Given the description of an element on the screen output the (x, y) to click on. 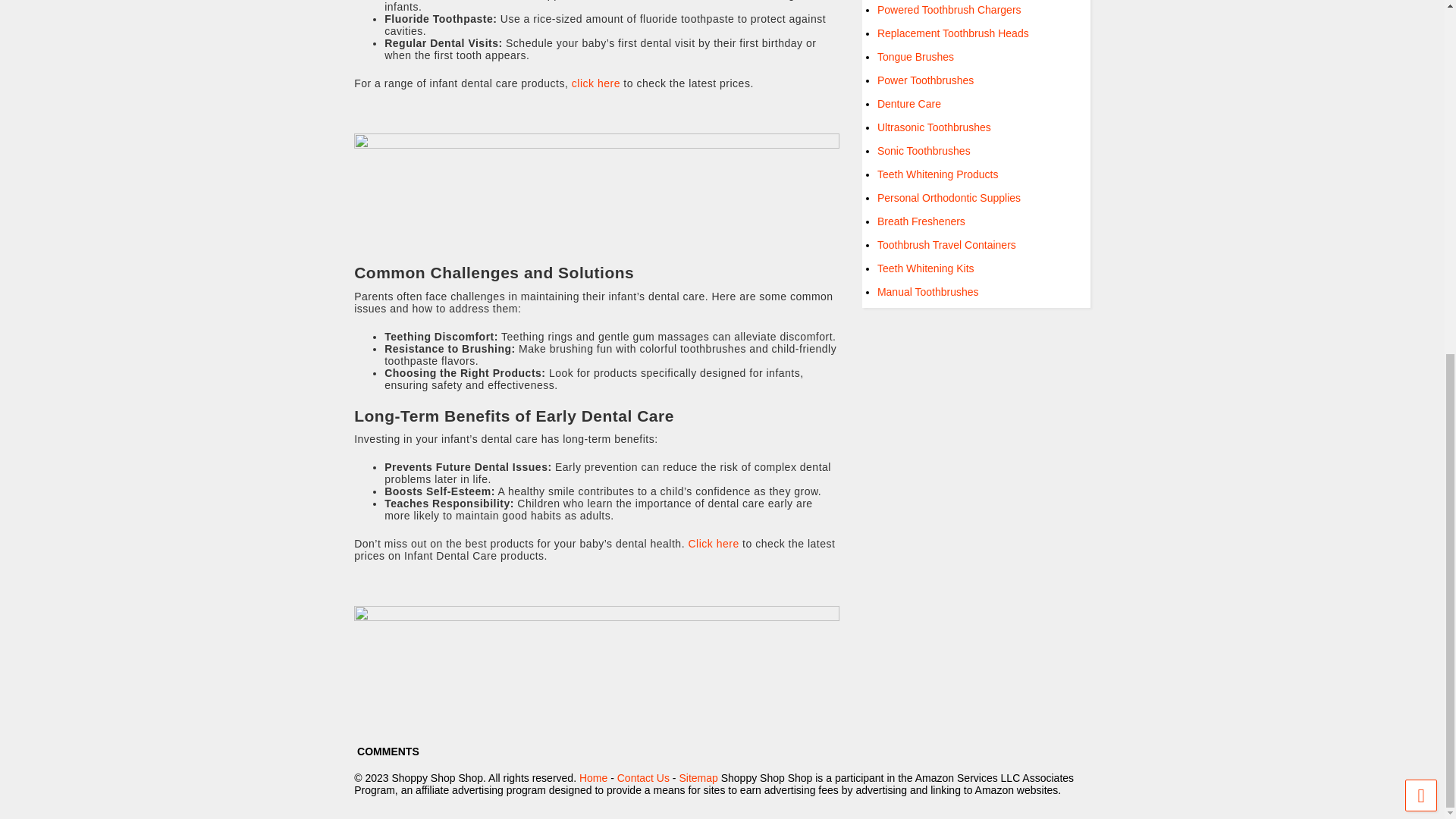
Click here (712, 543)
Replacement Toothbrush Heads (953, 33)
Tongue Brushes (915, 56)
click here (596, 82)
Powered Toothbrush Chargers (949, 9)
Teeth Whitening Products (937, 174)
Sonic Toothbrushes (924, 150)
Power Toothbrushes (925, 80)
Ultrasonic Toothbrushes (934, 127)
Denture Care (908, 103)
